Given the description of an element on the screen output the (x, y) to click on. 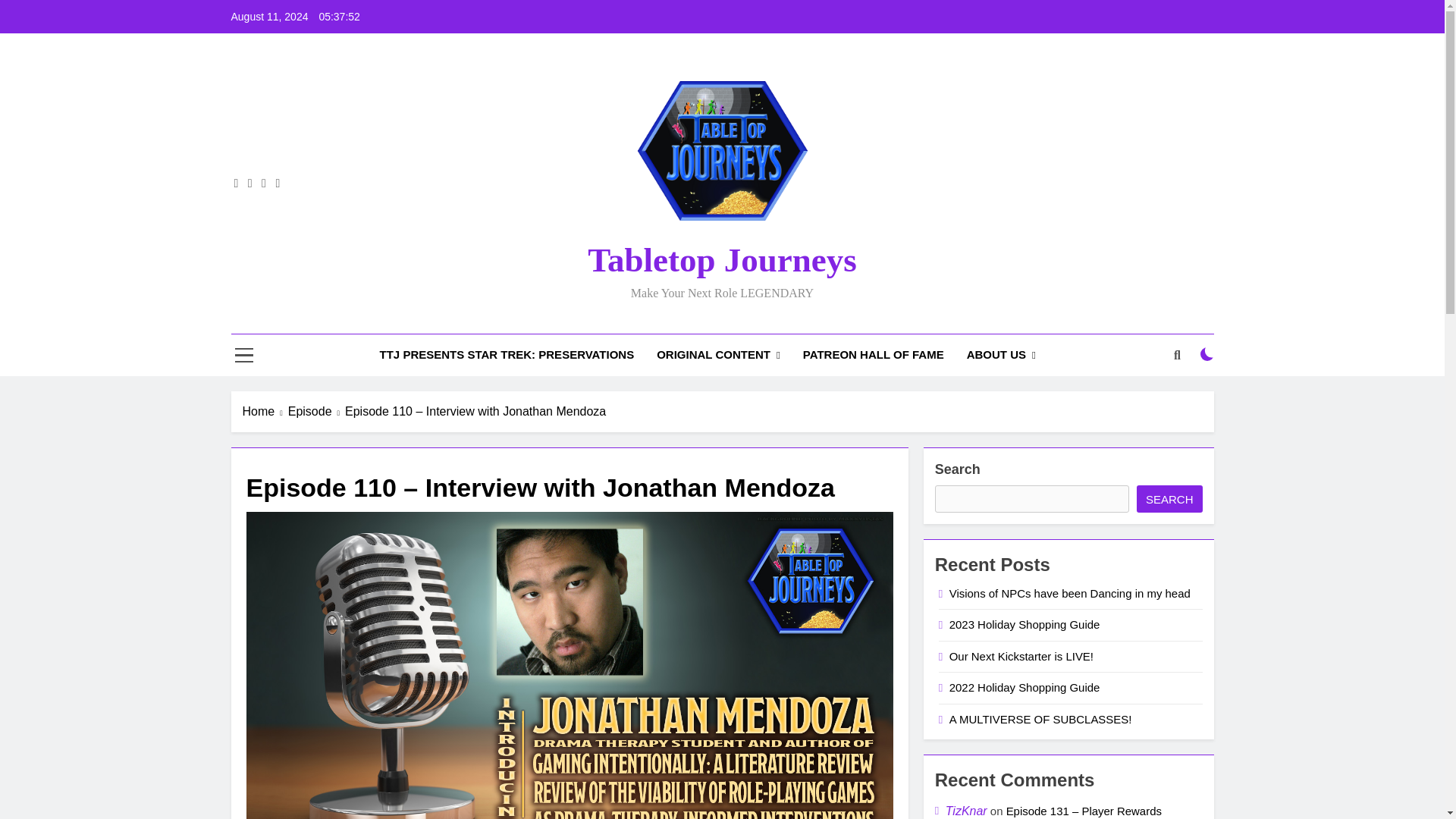
Episode (316, 411)
Tabletop Journeys (722, 259)
TTJ PRESENTS STAR TREK: PRESERVATIONS (507, 354)
ABOUT US (1000, 354)
PATREON HALL OF FAME (873, 354)
on (1206, 354)
ORIGINAL CONTENT (718, 354)
Home (265, 411)
